Given the description of an element on the screen output the (x, y) to click on. 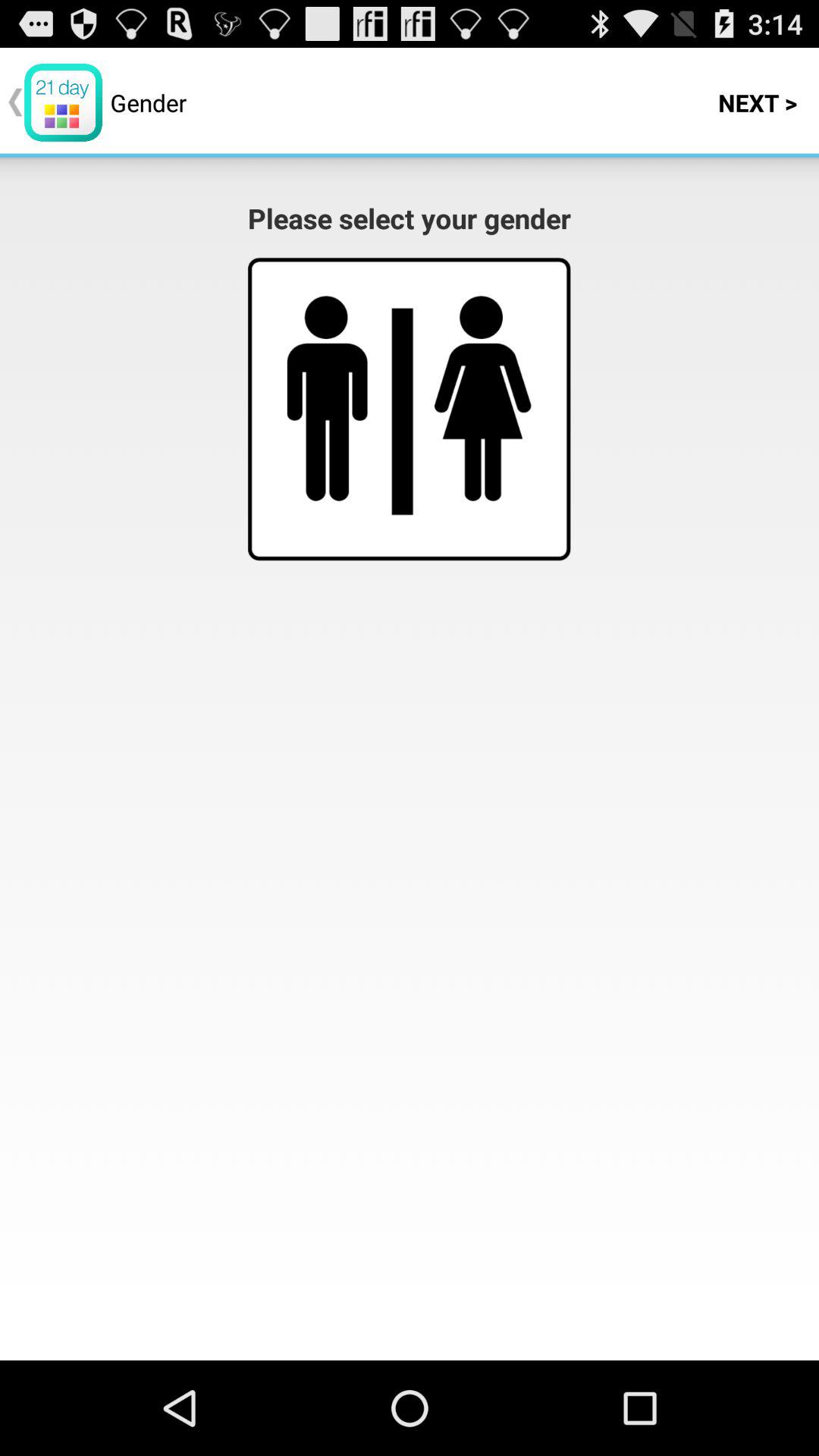
select gender option (482, 398)
